Given the description of an element on the screen output the (x, y) to click on. 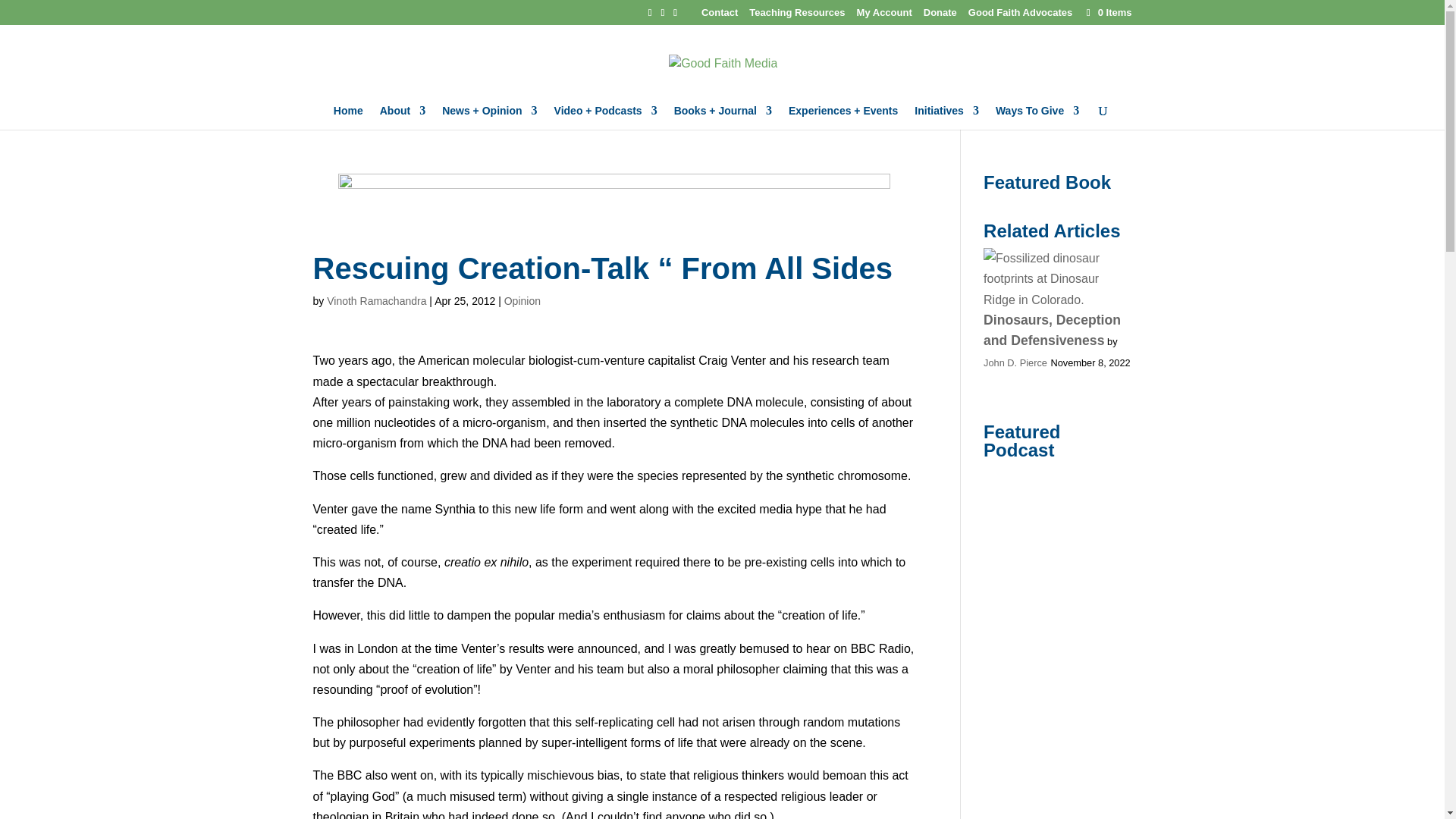
About (402, 117)
Good Faith Advocates (1019, 16)
My Account (884, 16)
Home (347, 117)
Posts by Vinoth Ramachandra (376, 300)
Contact (719, 16)
Dinosaurs, Deception and Defensiveness (1057, 279)
0 Items (1107, 12)
Donate (939, 16)
Teaching Resources (796, 16)
